Given the description of an element on the screen output the (x, y) to click on. 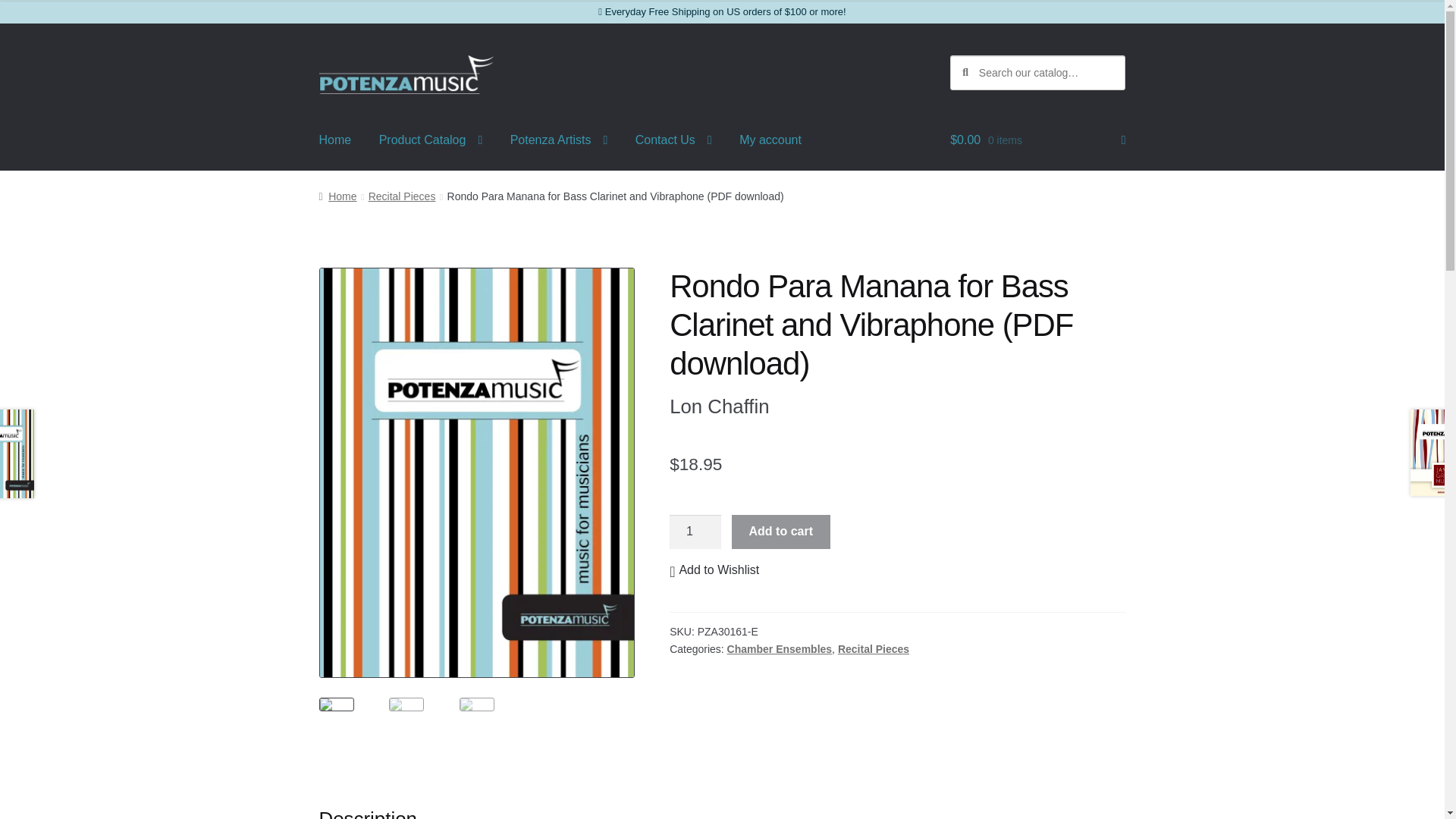
Recital Pieces (401, 196)
Recital Pieces (873, 648)
Product Catalog (430, 139)
Home (337, 196)
Home (335, 139)
My account (769, 139)
Add to cart (780, 532)
View your shopping cart (1037, 139)
Potenza Artists (558, 139)
